Given the description of an element on the screen output the (x, y) to click on. 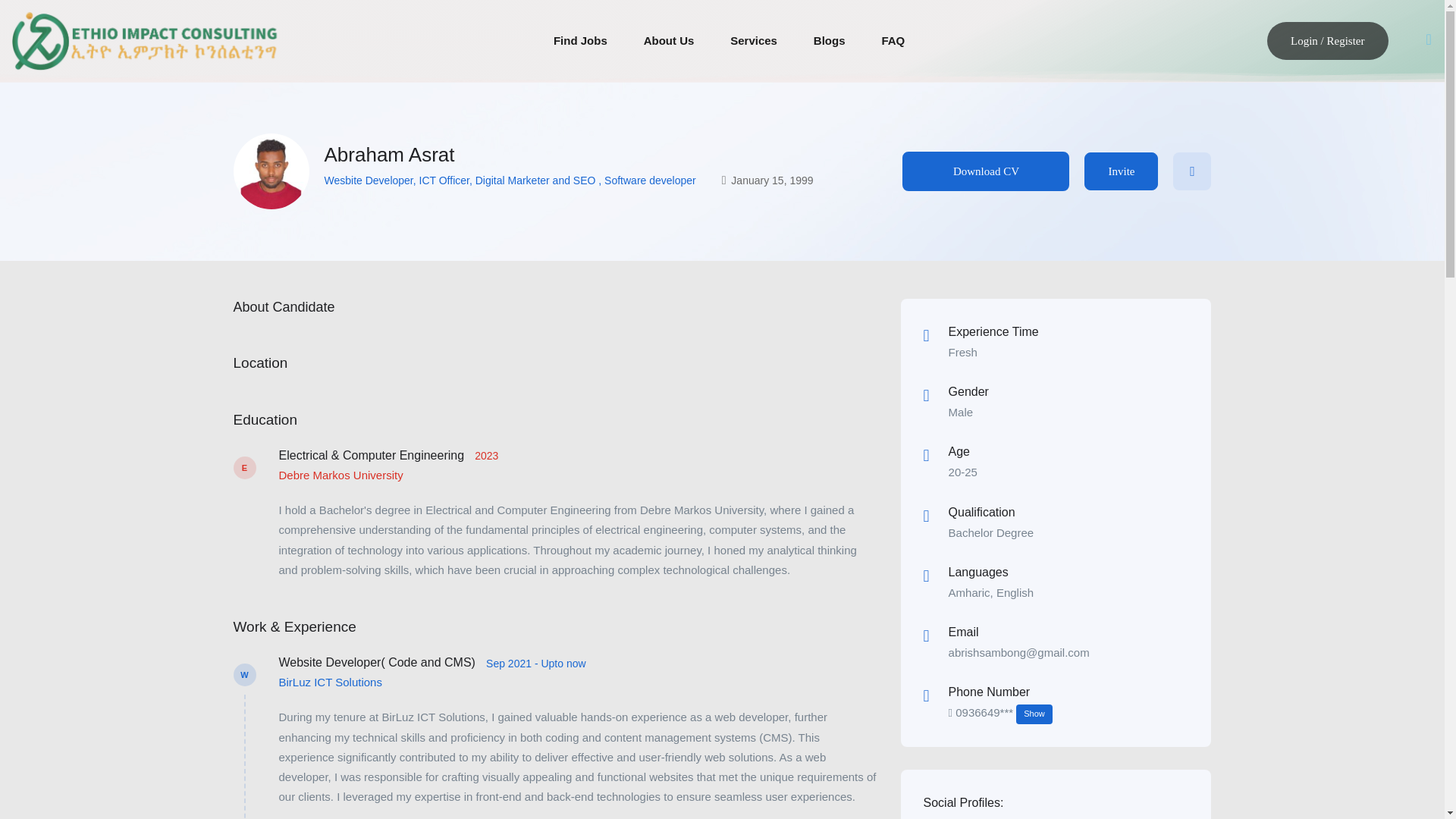
Blogs (829, 40)
Invite (1120, 171)
Find Jobs (580, 40)
About Us (668, 40)
Download CV (985, 170)
Shortlist (1192, 171)
FAQ (892, 40)
Services (753, 40)
